Given the description of an element on the screen output the (x, y) to click on. 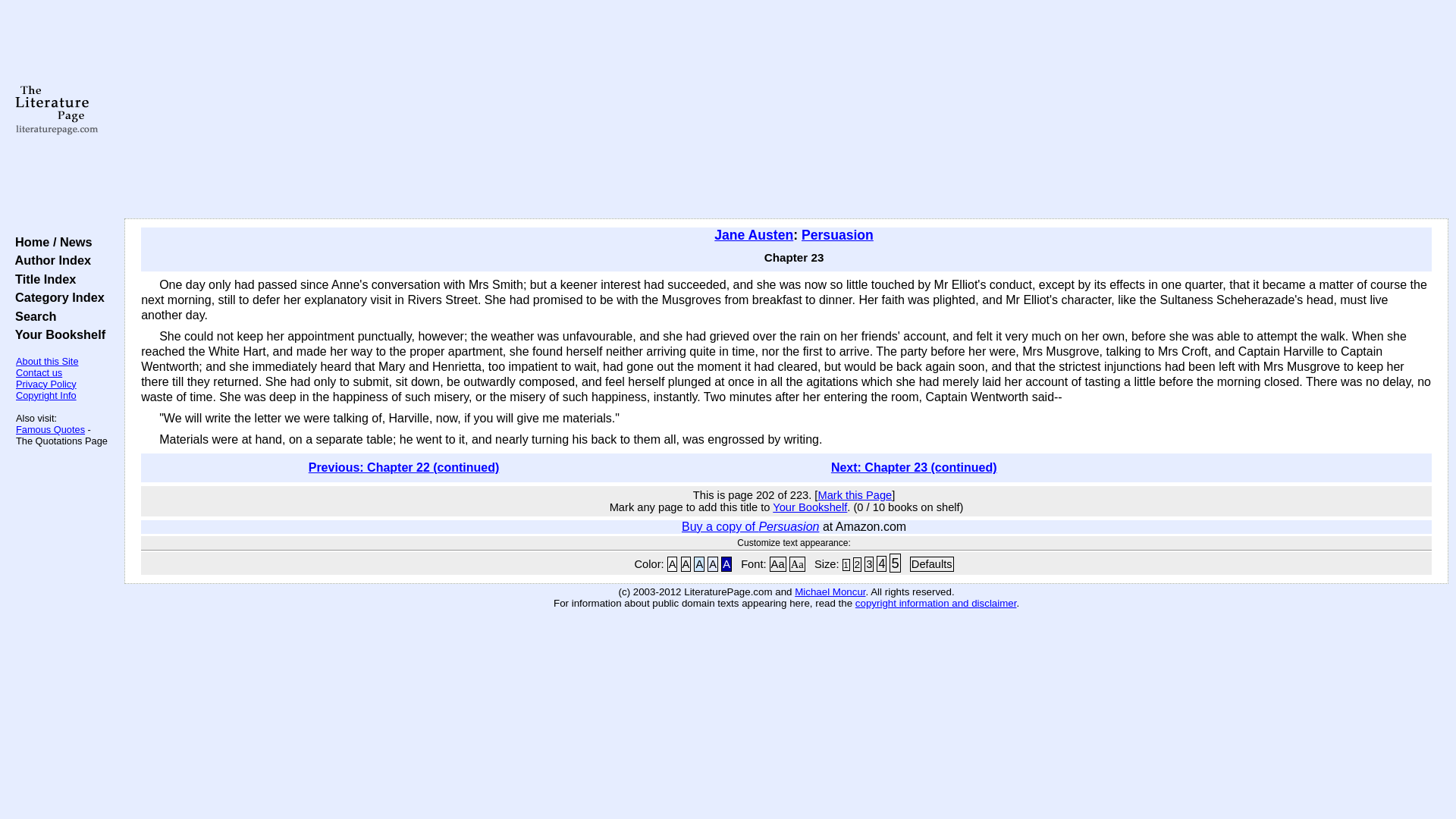
  Author Index (49, 259)
copyright information and disclaimer (936, 603)
Buy a copy of Persuasion (749, 526)
  Search (32, 315)
Serif (797, 563)
  Category Index (56, 296)
Copyright Info (46, 395)
  Your Bookshelf (56, 334)
Famous Quotes (50, 429)
Persuasion (837, 234)
Privacy Policy (46, 383)
About this Site (47, 360)
Reset to Defaults (931, 563)
Aa (778, 563)
  Title Index (41, 278)
